Given the description of an element on the screen output the (x, y) to click on. 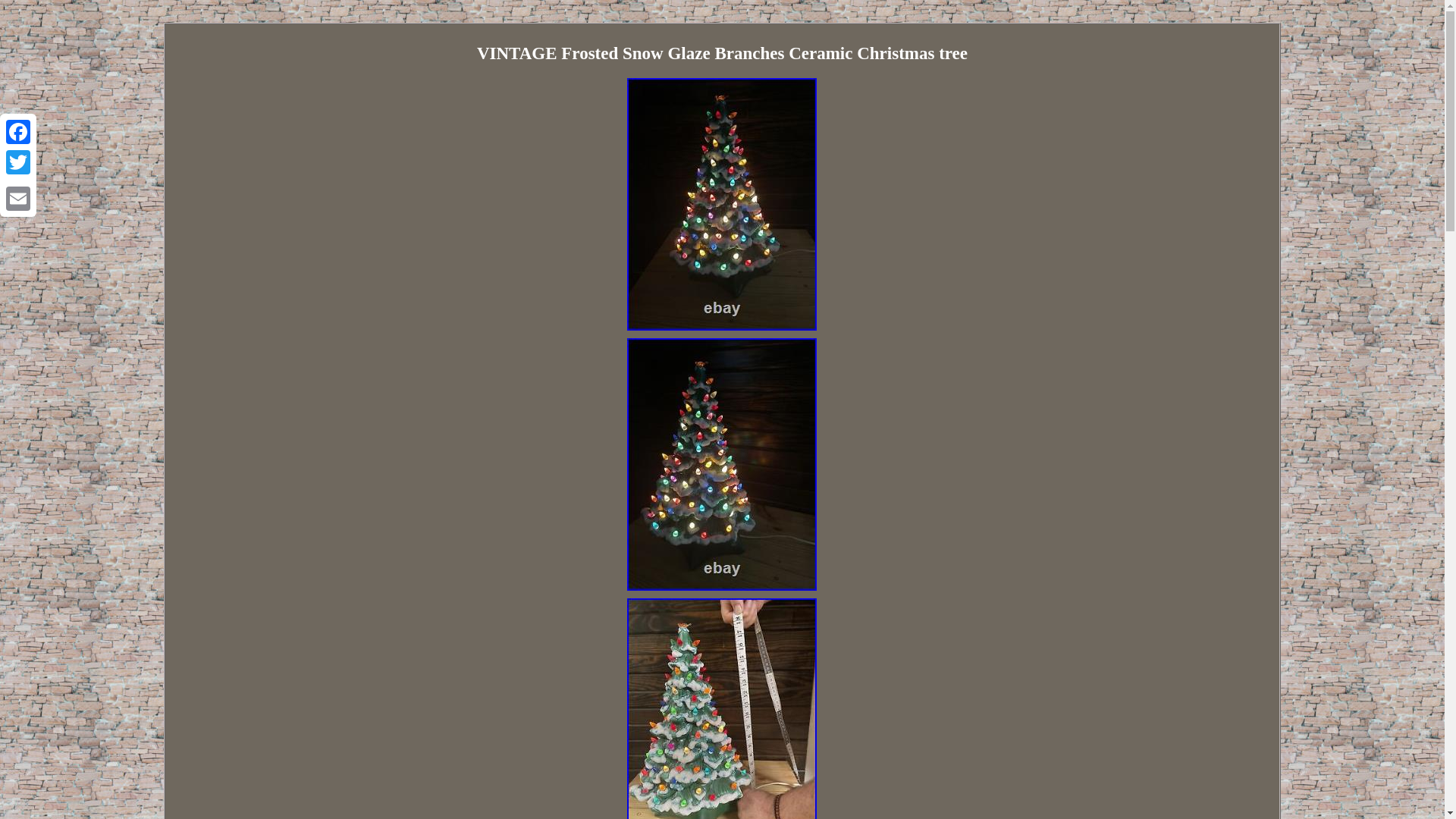
Email (17, 198)
Twitter (17, 162)
Facebook (17, 132)
